Given the description of an element on the screen output the (x, y) to click on. 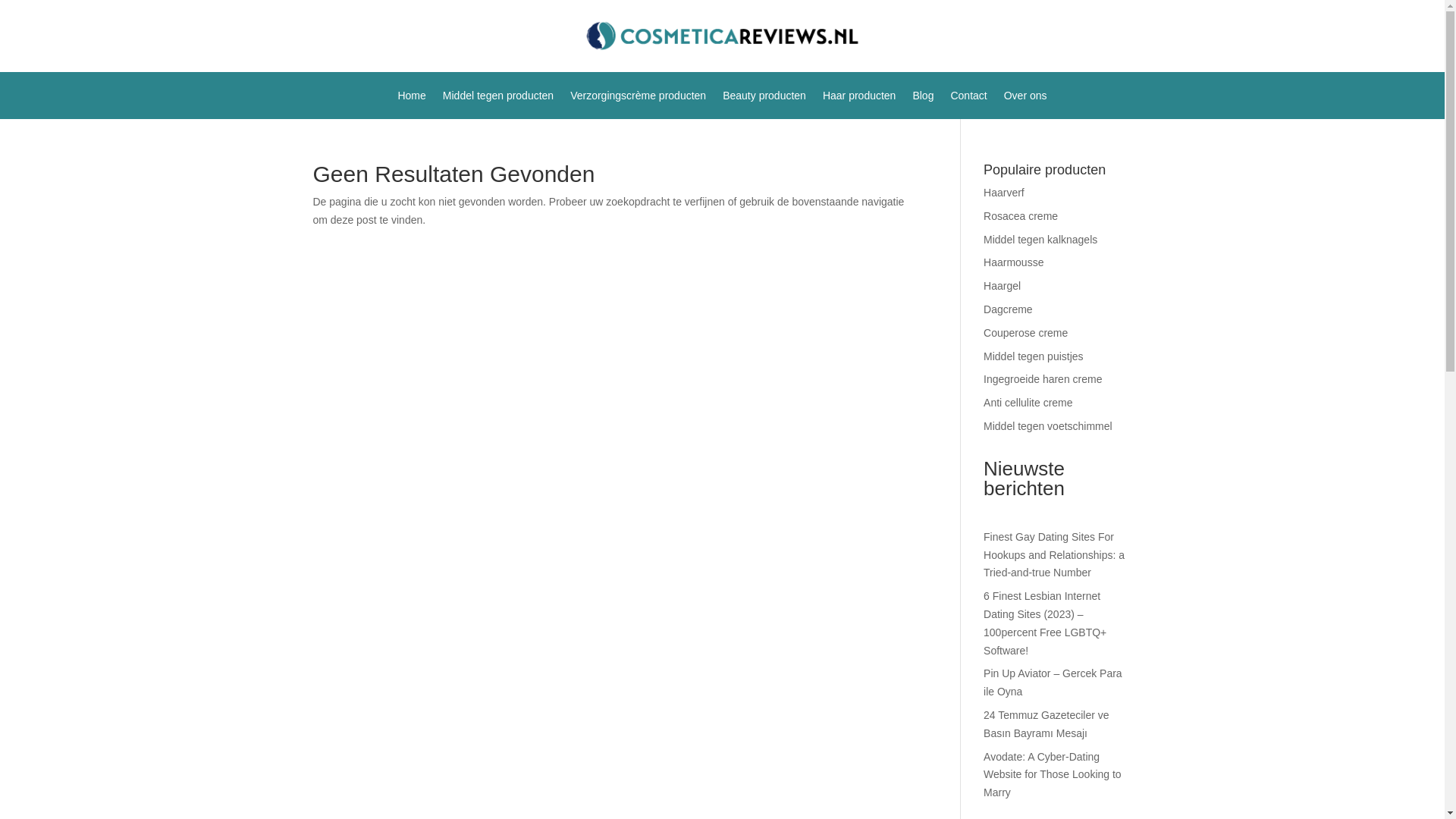
Rosacea creme (1021, 215)
Avodate: A Cyber-Dating Website for Those Looking to Marry (1052, 775)
Haarmousse (1013, 262)
Blog (922, 98)
Contact (968, 98)
Dagcreme (1008, 309)
Middel tegen kalknagels (1040, 239)
Home (411, 98)
Middel tegen voetschimmel (1048, 426)
Haarverf (1004, 192)
Middel tegen producten (497, 98)
Over ons (1025, 98)
Haar producten (859, 98)
Middel tegen puistjes (1033, 356)
